Given the description of an element on the screen output the (x, y) to click on. 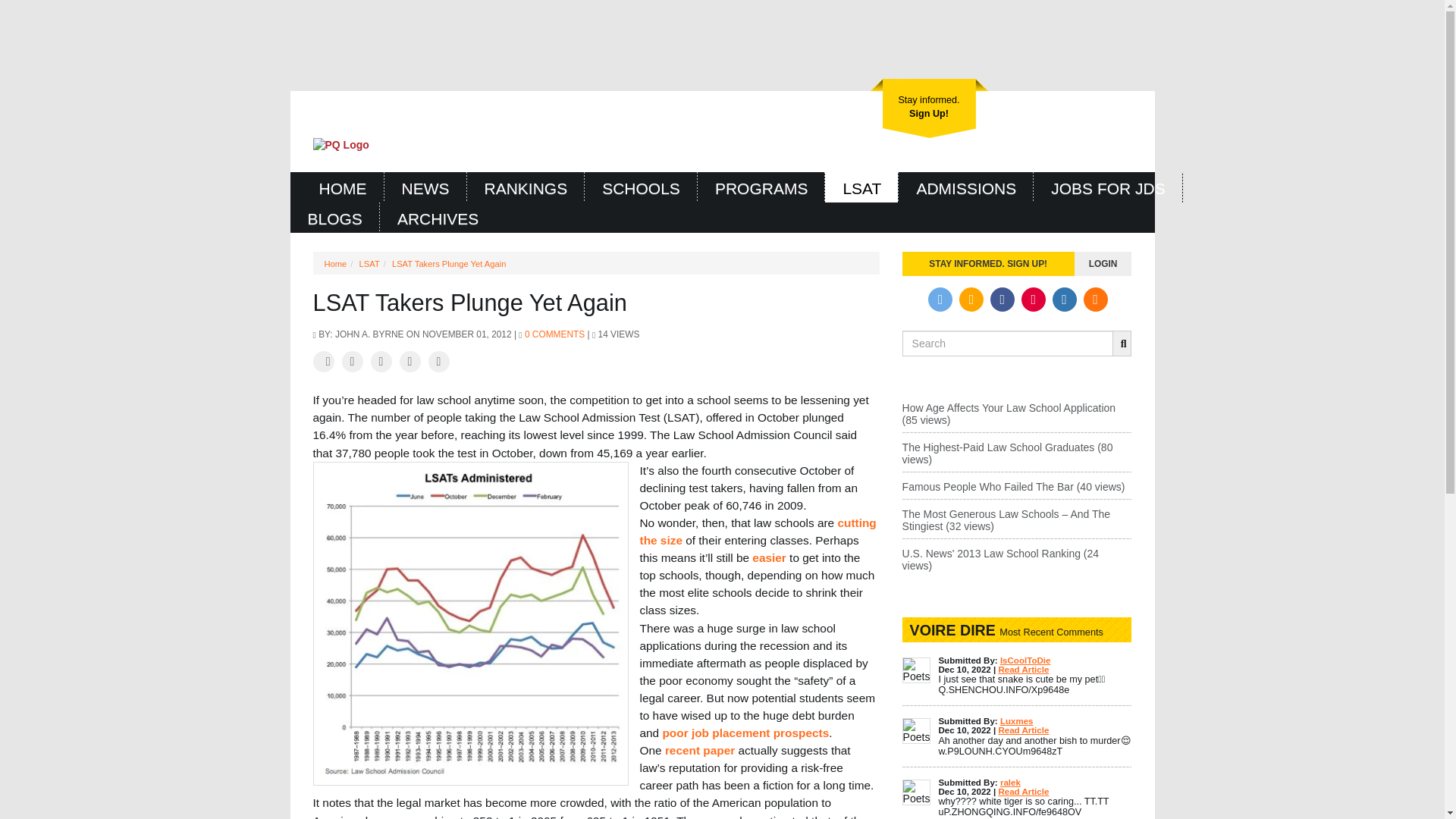
Admissions (965, 186)
Rankings (526, 186)
BLOGS (333, 217)
Home (342, 186)
SCHOOLS (641, 186)
JOBS FOR JDS (1107, 186)
ADMISSIONS (965, 186)
Register (929, 108)
Blogs (929, 108)
